Given the description of an element on the screen output the (x, y) to click on. 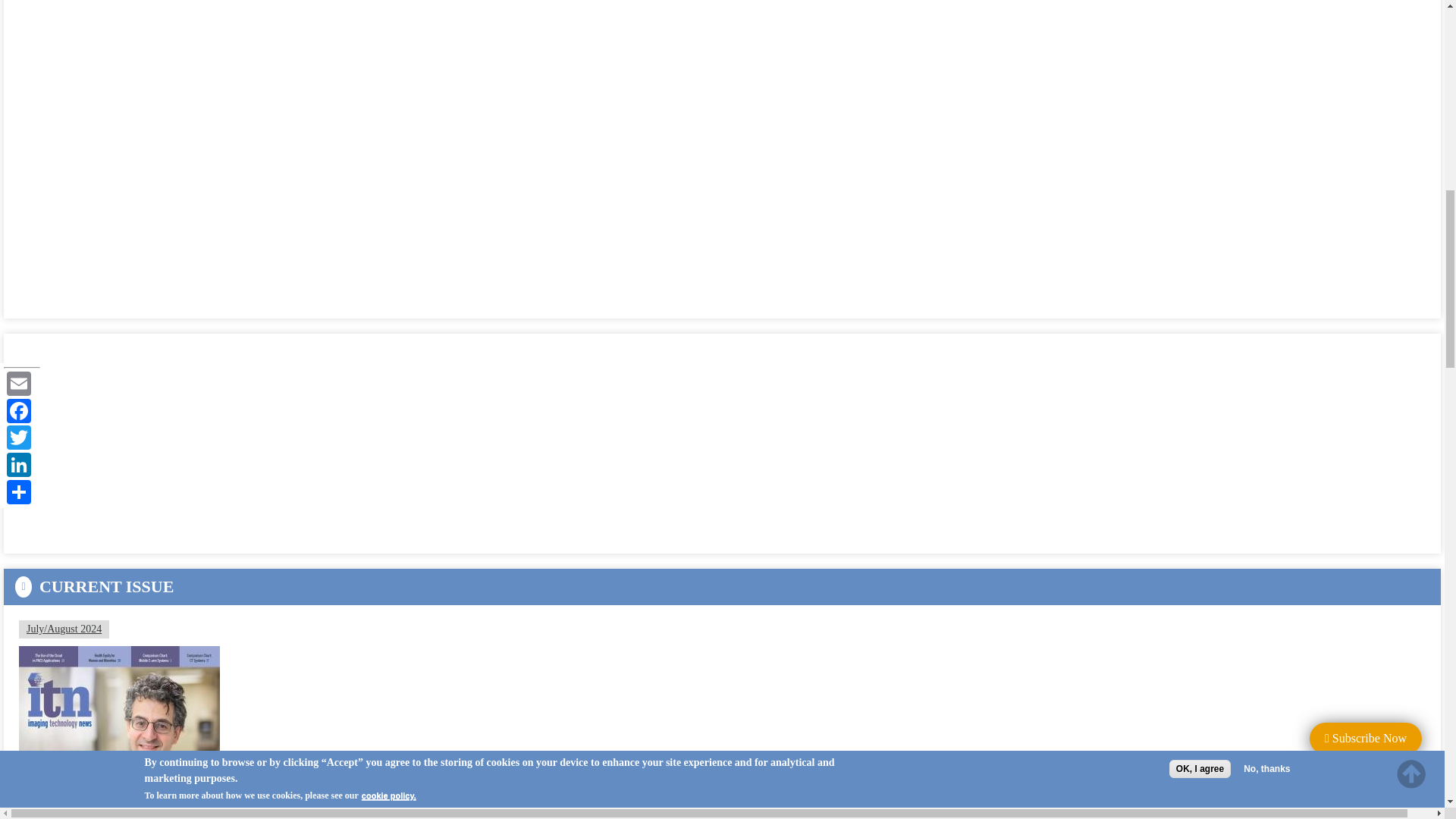
3rd party ad content (132, 443)
